Given the description of an element on the screen output the (x, y) to click on. 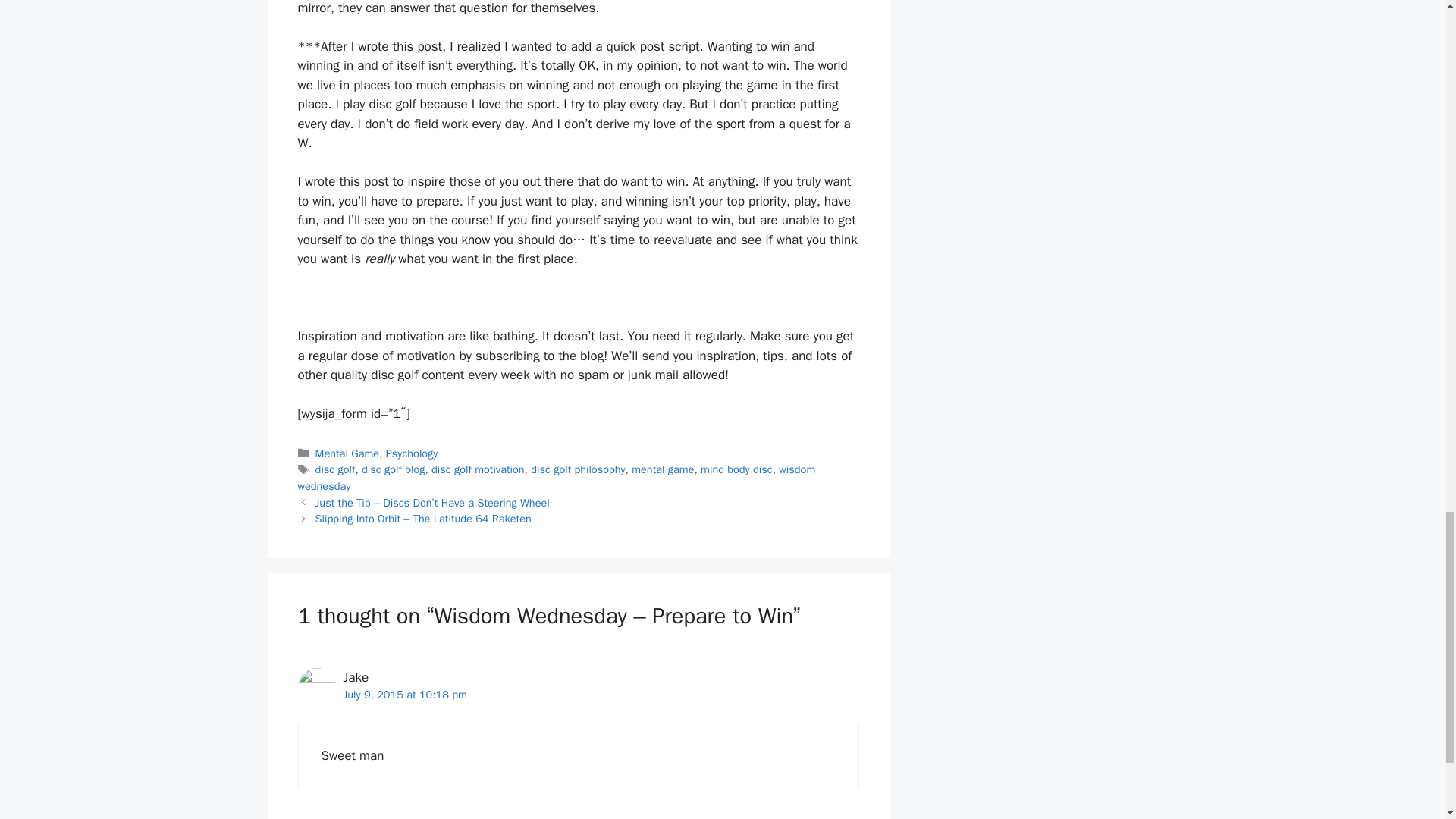
disc golf blog (393, 468)
disc golf motivation (477, 468)
disc golf philosophy (577, 468)
disc golf (335, 468)
mental game (662, 468)
mind body disc (736, 468)
Psychology (411, 453)
July 9, 2015 at 10:18 pm (403, 694)
wisdom wednesday (556, 477)
Mental Game (346, 453)
